Given the description of an element on the screen output the (x, y) to click on. 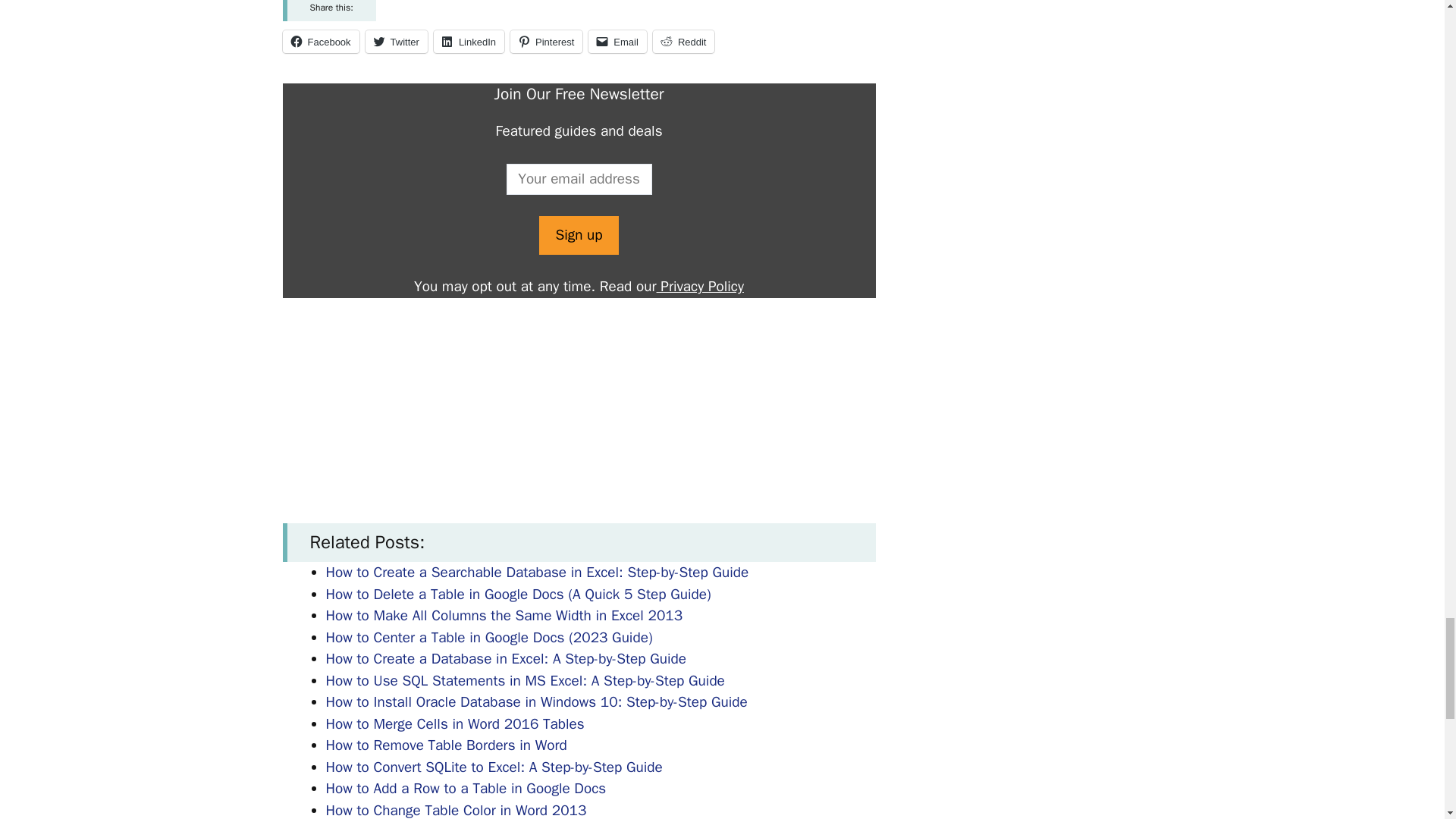
Reddit (683, 41)
How to Add a Row to a Table in Google Docs (466, 788)
Facebook (320, 41)
Pinterest (546, 41)
Click to share on Facebook (320, 41)
How to Make All Columns the Same Width in Excel 2013 (504, 615)
Sign up (577, 235)
How to Change Table Color in Word 2013 (456, 810)
